Given the description of an element on the screen output the (x, y) to click on. 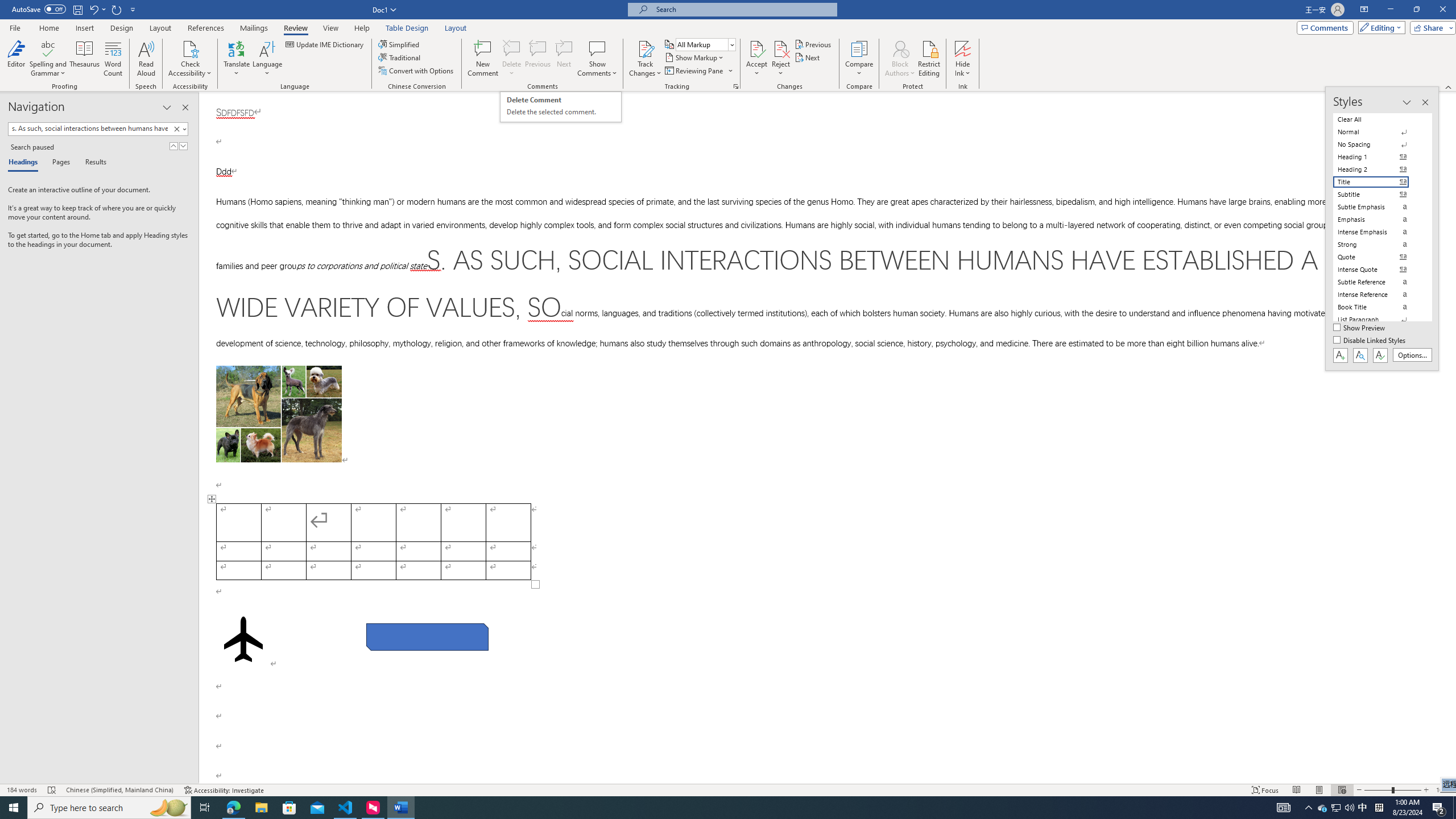
Check Accessibility (189, 48)
Clear (176, 128)
Hide Ink (962, 58)
Show Comments (597, 58)
No Spacing (1377, 144)
Delete (511, 48)
Close pane (185, 107)
Heading 2 (1377, 169)
Subtitle (1377, 194)
